Given the description of an element on the screen output the (x, y) to click on. 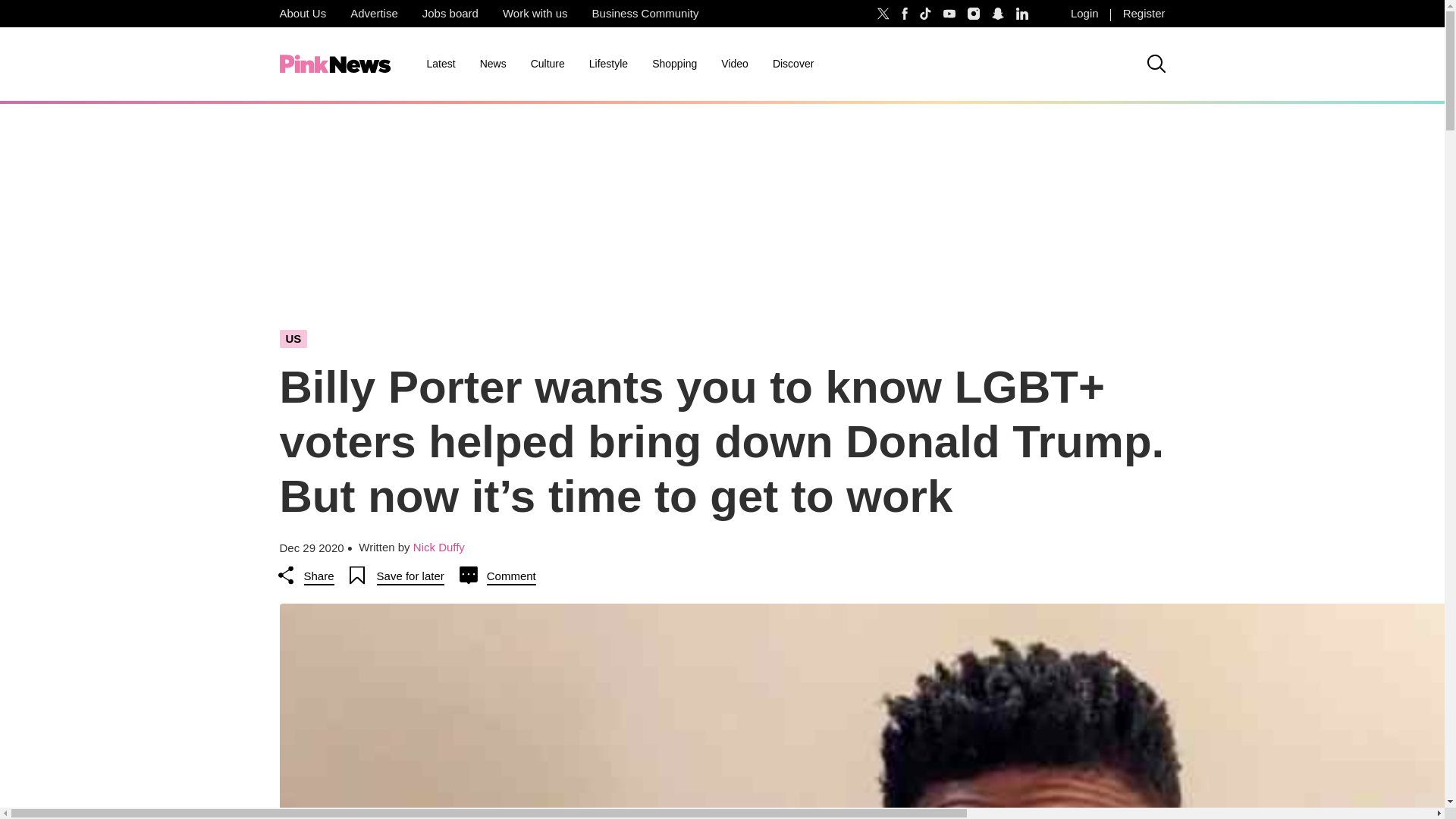
Follow PinkNews on LinkedIn (1021, 13)
Login (1084, 13)
Culture (547, 63)
About Us (301, 13)
Jobs board (450, 13)
News (493, 63)
Work with us (534, 13)
Business Community (645, 13)
Advertise (373, 13)
Lifestyle (608, 63)
